Given the description of an element on the screen output the (x, y) to click on. 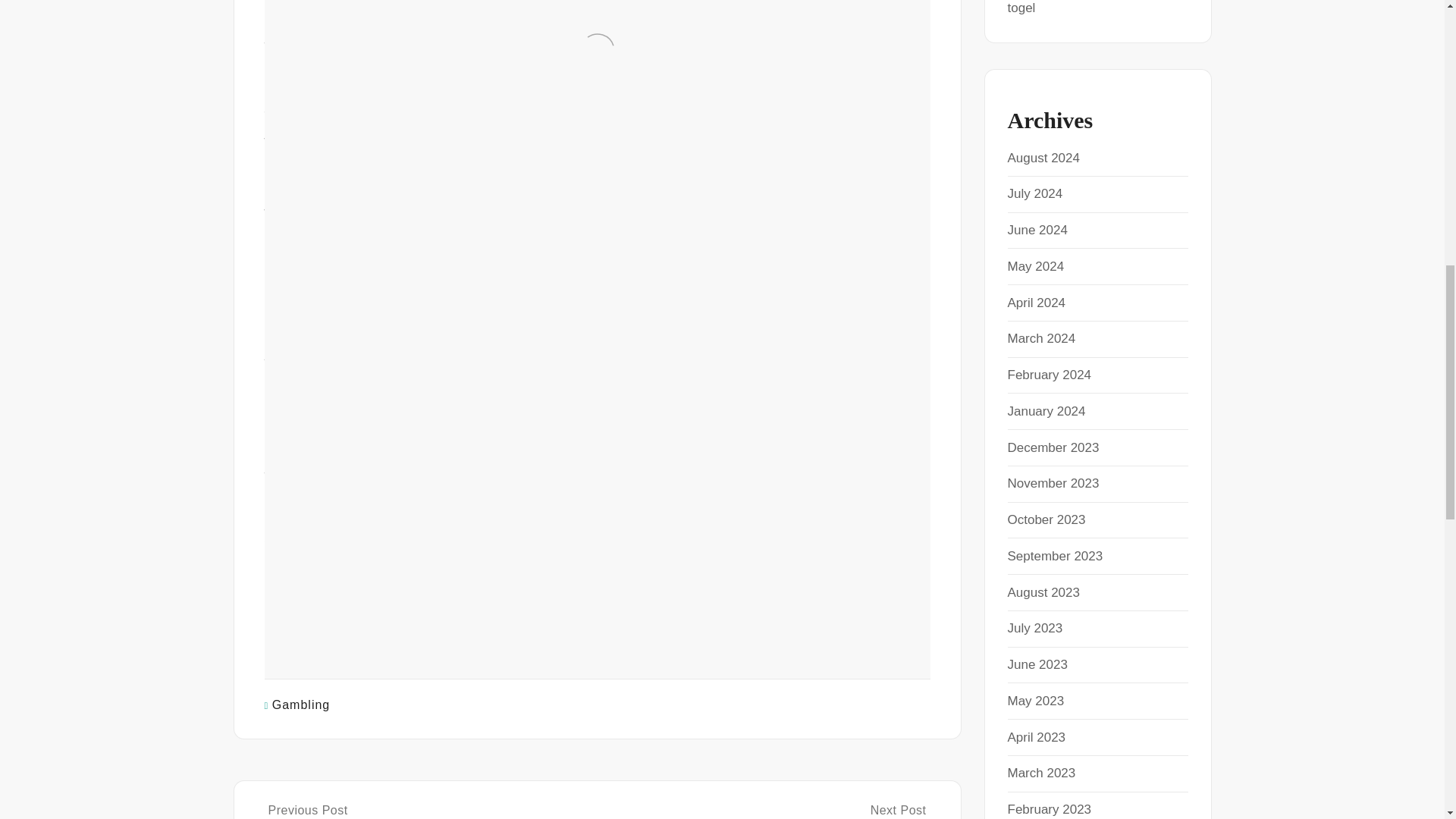
April 2024 (1036, 302)
May 2023 (1035, 700)
January 2024 (1045, 411)
December 2023 (1053, 447)
togel (1021, 7)
August 2024 (1042, 157)
July 2023 (1034, 627)
August 2023 (1042, 592)
June 2023 (1037, 664)
February 2024 (1048, 374)
